Given the description of an element on the screen output the (x, y) to click on. 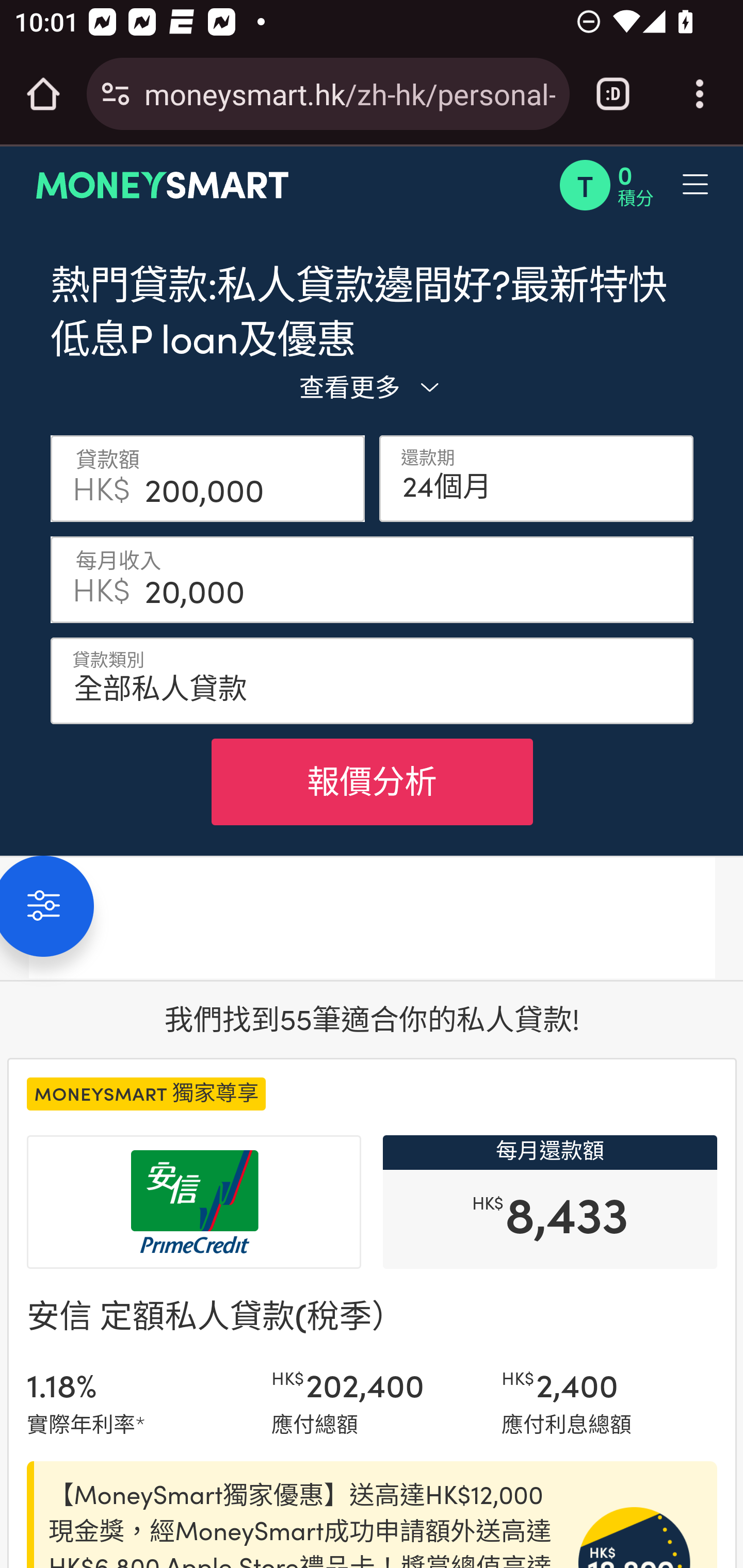
Open the home page (43, 93)
Connection is secure (115, 93)
Switch or close tabs (612, 93)
Customize and control Google Chrome (699, 93)
mobile menu (633, 184)
MoneySmart Logo (162, 184)
查看更多  (371, 385)
還款期 (536, 477)
報價分析 (371, 781)
安信 定額私人貸款(稅季） (215, 1313)
